Given the description of an element on the screen output the (x, y) to click on. 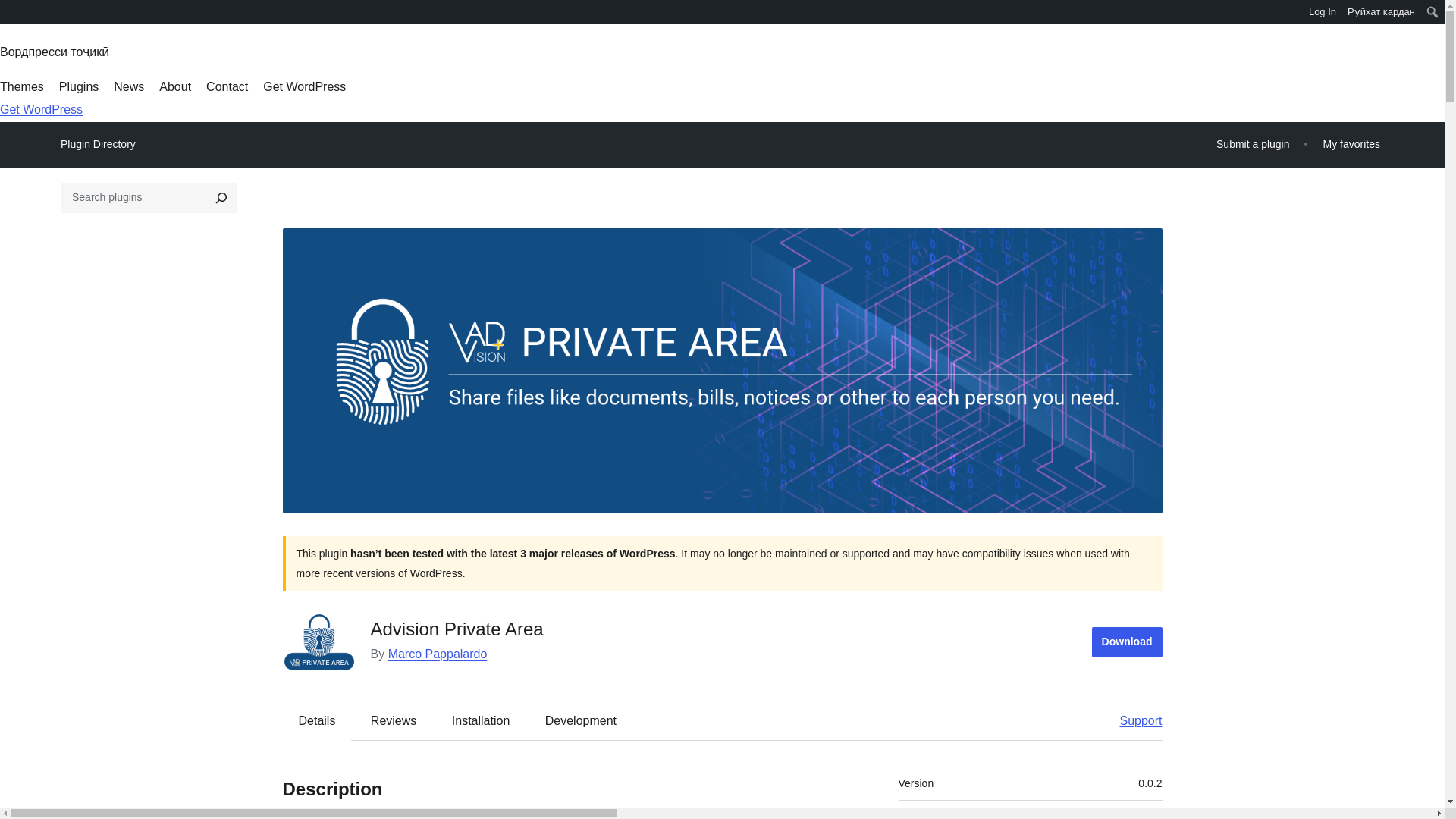
Download (1126, 642)
About (174, 87)
Development (580, 720)
Marco Pappalardo (437, 653)
My favorites (1351, 144)
Details (316, 720)
Get WordPress (304, 87)
Support (1132, 720)
Reviews (392, 720)
Log In (1322, 12)
Themes (21, 87)
Contact (226, 87)
Installation (480, 720)
WordPress.org (10, 10)
Plugin Directory (97, 143)
